Given the description of an element on the screen output the (x, y) to click on. 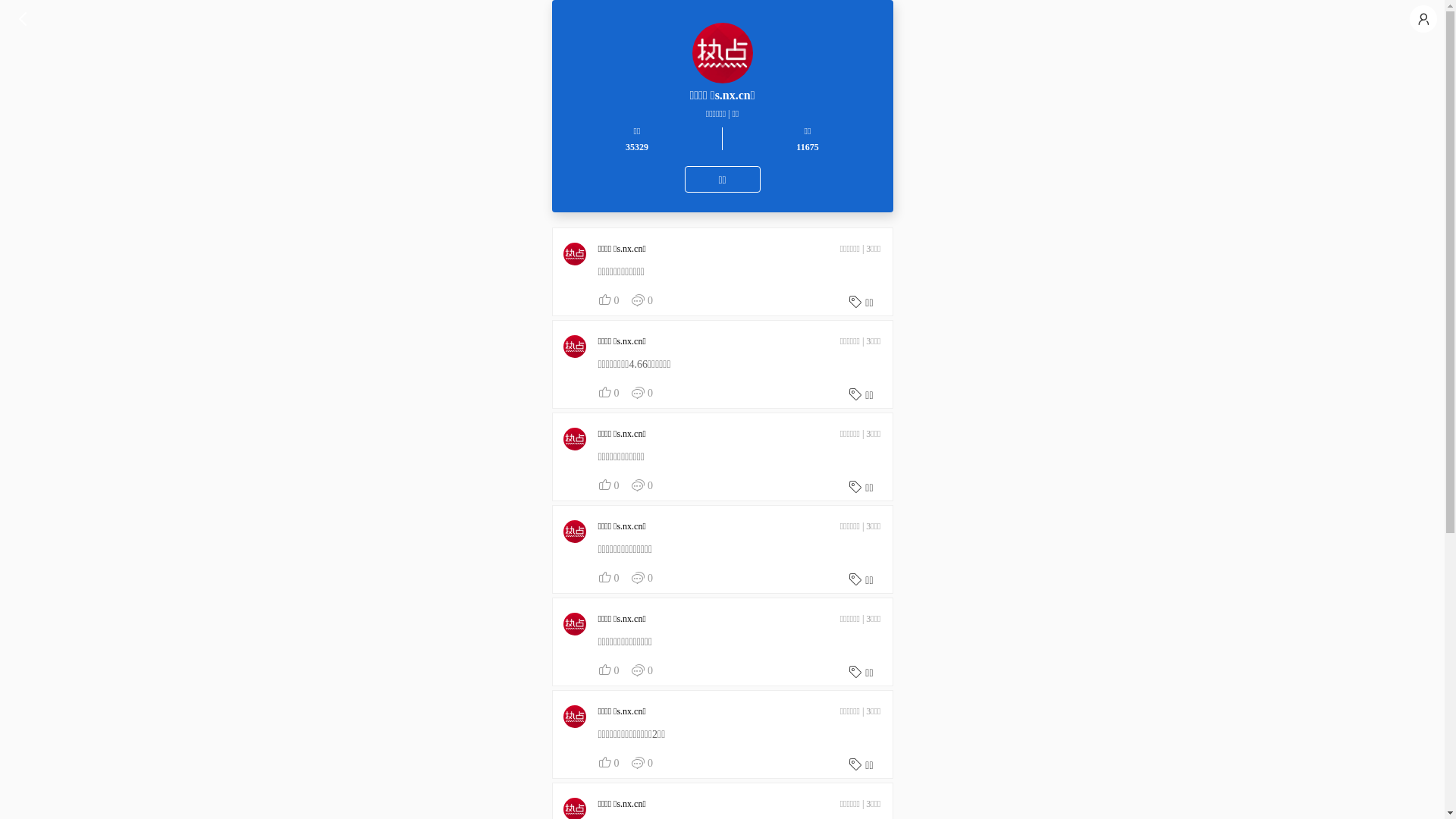
0 Element type: text (609, 299)
0 Element type: text (609, 484)
0 Element type: text (643, 299)
0 Element type: text (643, 484)
0 Element type: text (643, 669)
0 Element type: text (643, 577)
0 Element type: text (609, 669)
0 Element type: text (609, 762)
0 Element type: text (643, 762)
0 Element type: text (609, 577)
0 Element type: text (643, 392)
0 Element type: text (609, 392)
